Given the description of an element on the screen output the (x, y) to click on. 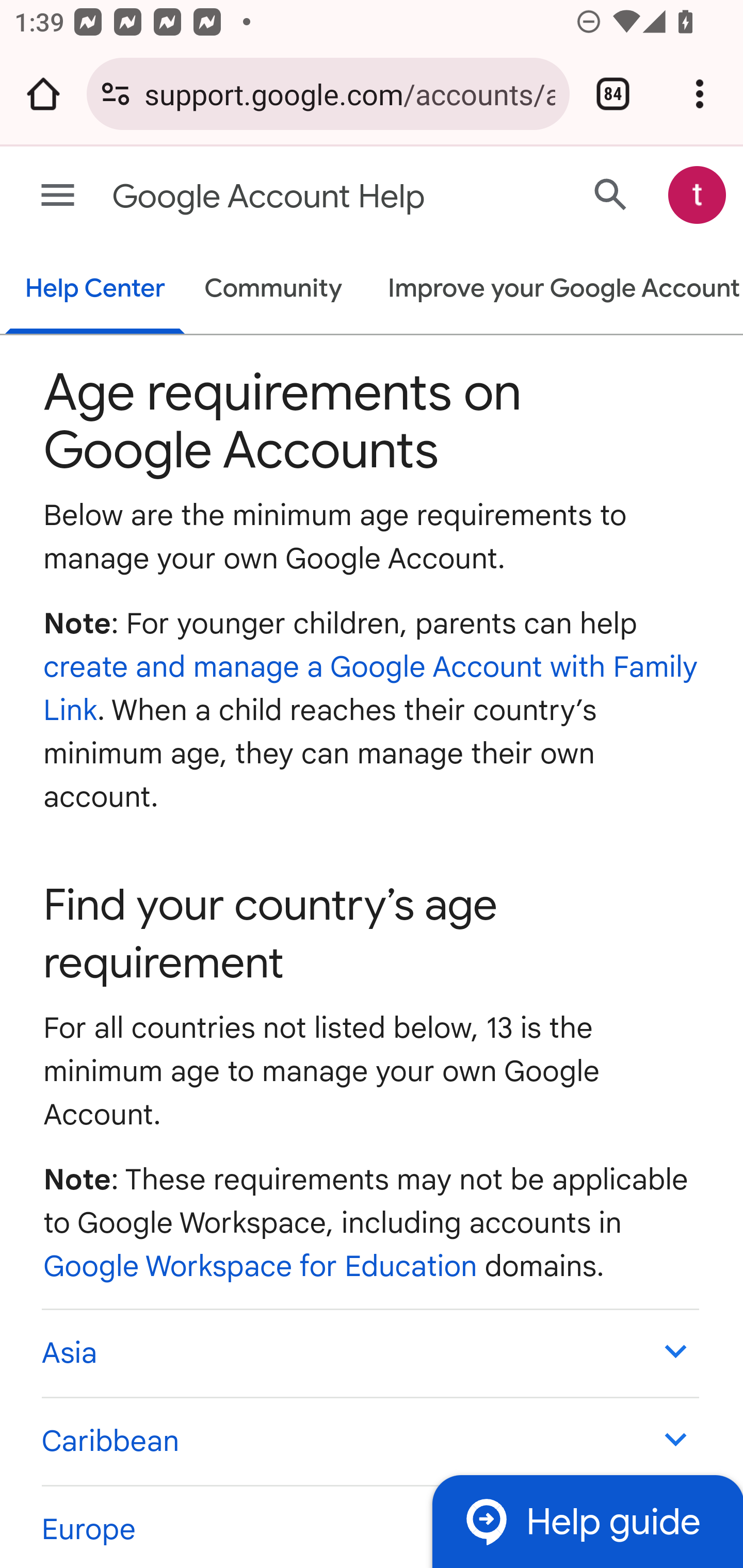
Open the home page (43, 93)
Connection is secure (115, 93)
Switch or close tabs (612, 93)
Customize and control Google Chrome (699, 93)
support.google.com/accounts/answer/1350409 (349, 92)
Main menu (58, 195)
Google Account Help (292, 197)
Search Help Center (611, 194)
Help Center (94, 289)
Community (273, 289)
Improve your Google Account (554, 289)
Google Workspace for Education (260, 1265)
Asia (369, 1352)
Caribbean (369, 1439)
Help guide (587, 1520)
Europe (369, 1525)
